Given the description of an element on the screen output the (x, y) to click on. 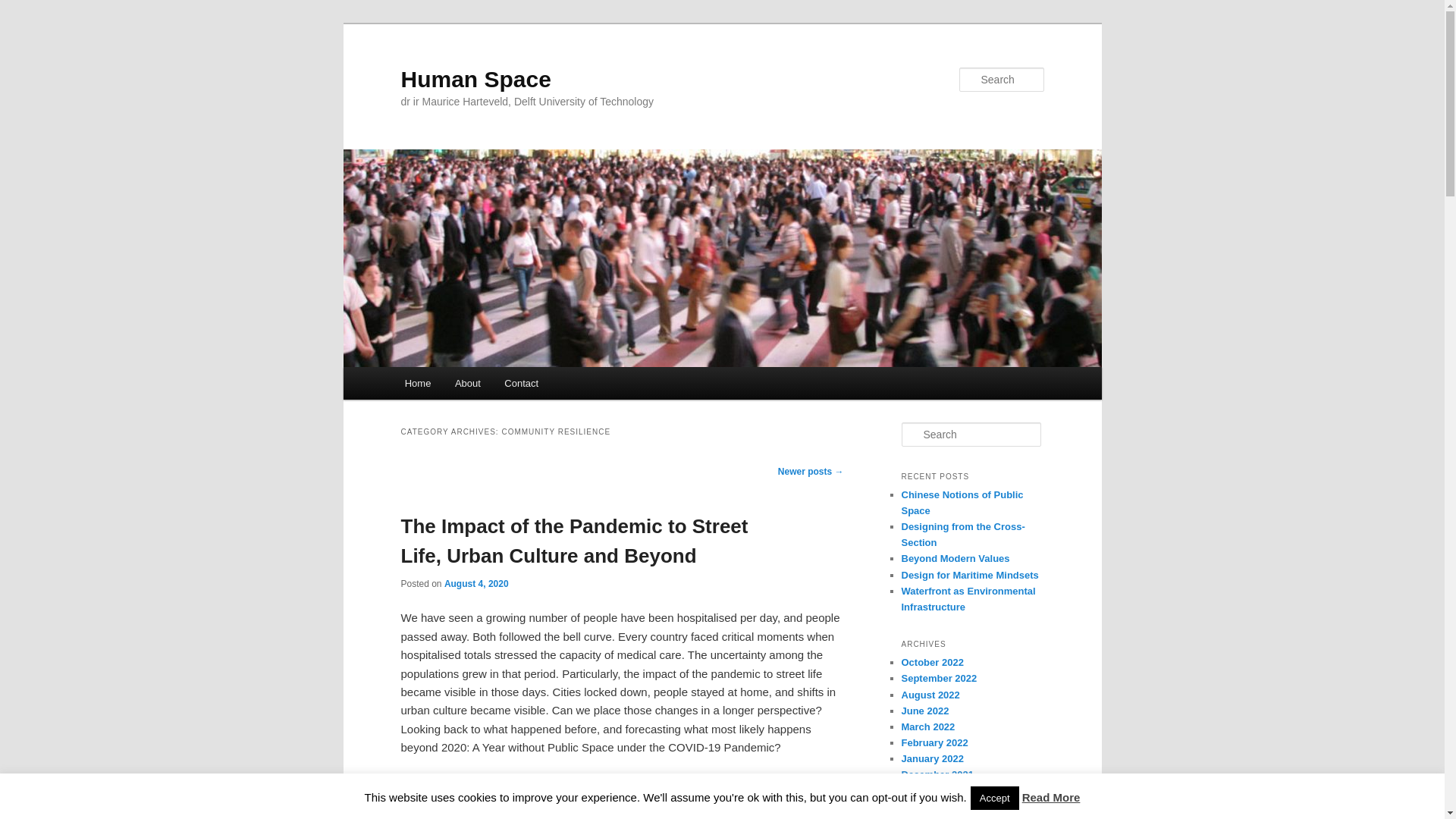
Contact (521, 382)
11:00 (476, 583)
August 4, 2020 (476, 583)
Human Space (475, 78)
Home (417, 382)
About (467, 382)
Search (24, 8)
